Given the description of an element on the screen output the (x, y) to click on. 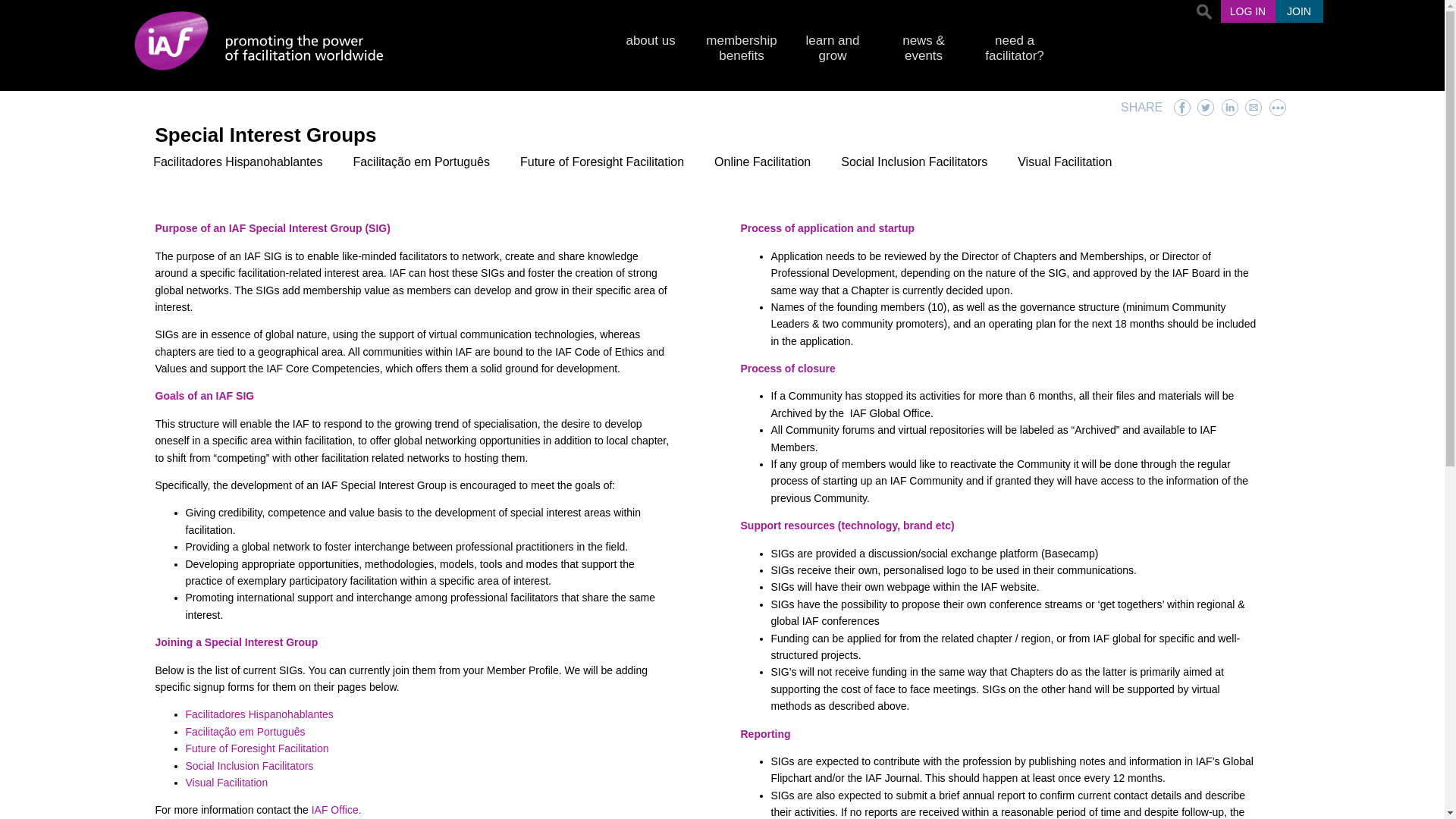
LOG IN (1247, 14)
JOIN (1299, 14)
about us (650, 45)
GO (15, 11)
